Given the description of an element on the screen output the (x, y) to click on. 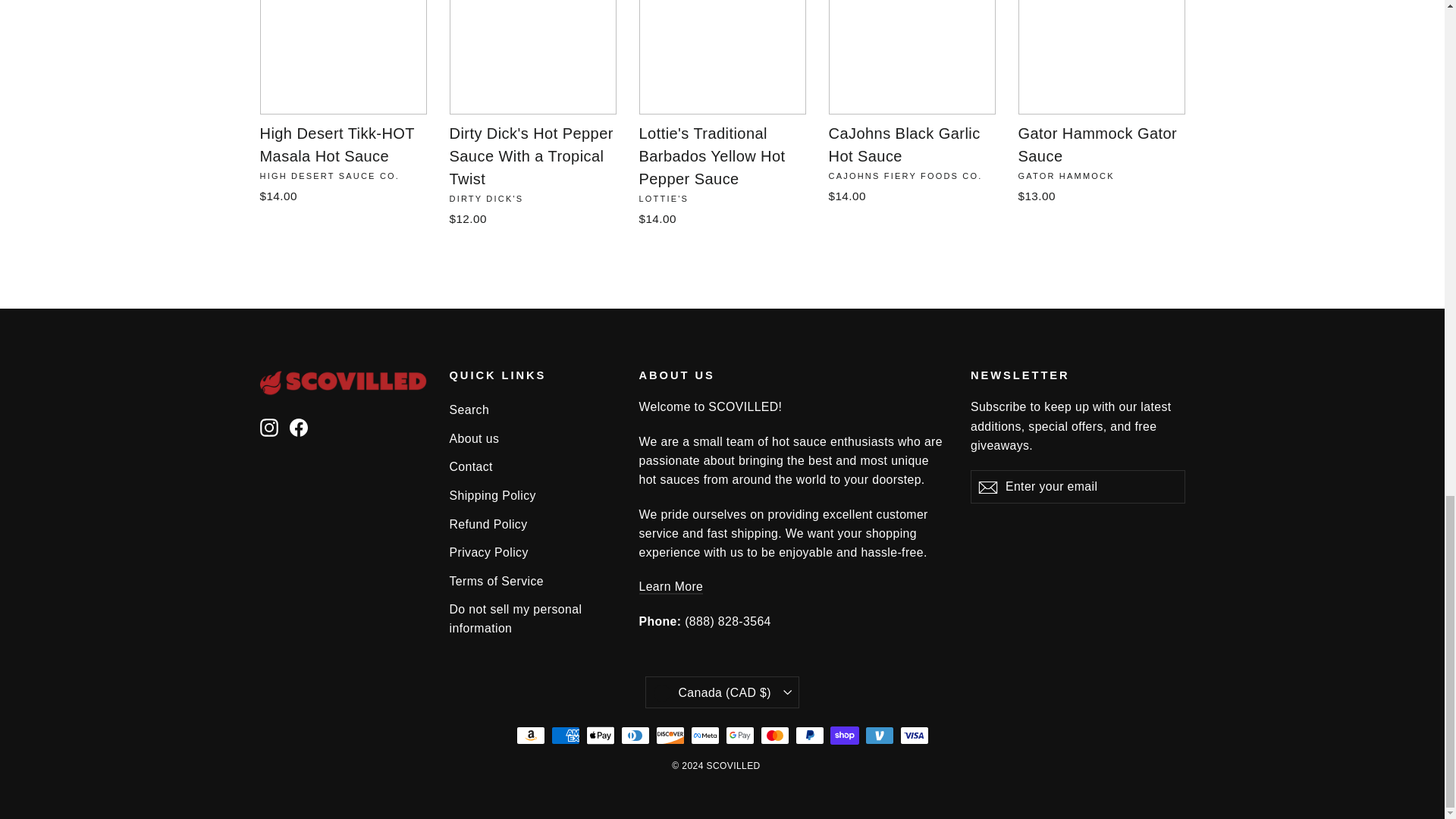
SCOVILLED on Facebook (298, 426)
instagram (268, 427)
About us (671, 586)
American Express (564, 735)
Apple Pay (599, 735)
Diners Club (634, 735)
Discover (669, 735)
icon-email (987, 487)
Amazon (529, 735)
